Given the description of an element on the screen output the (x, y) to click on. 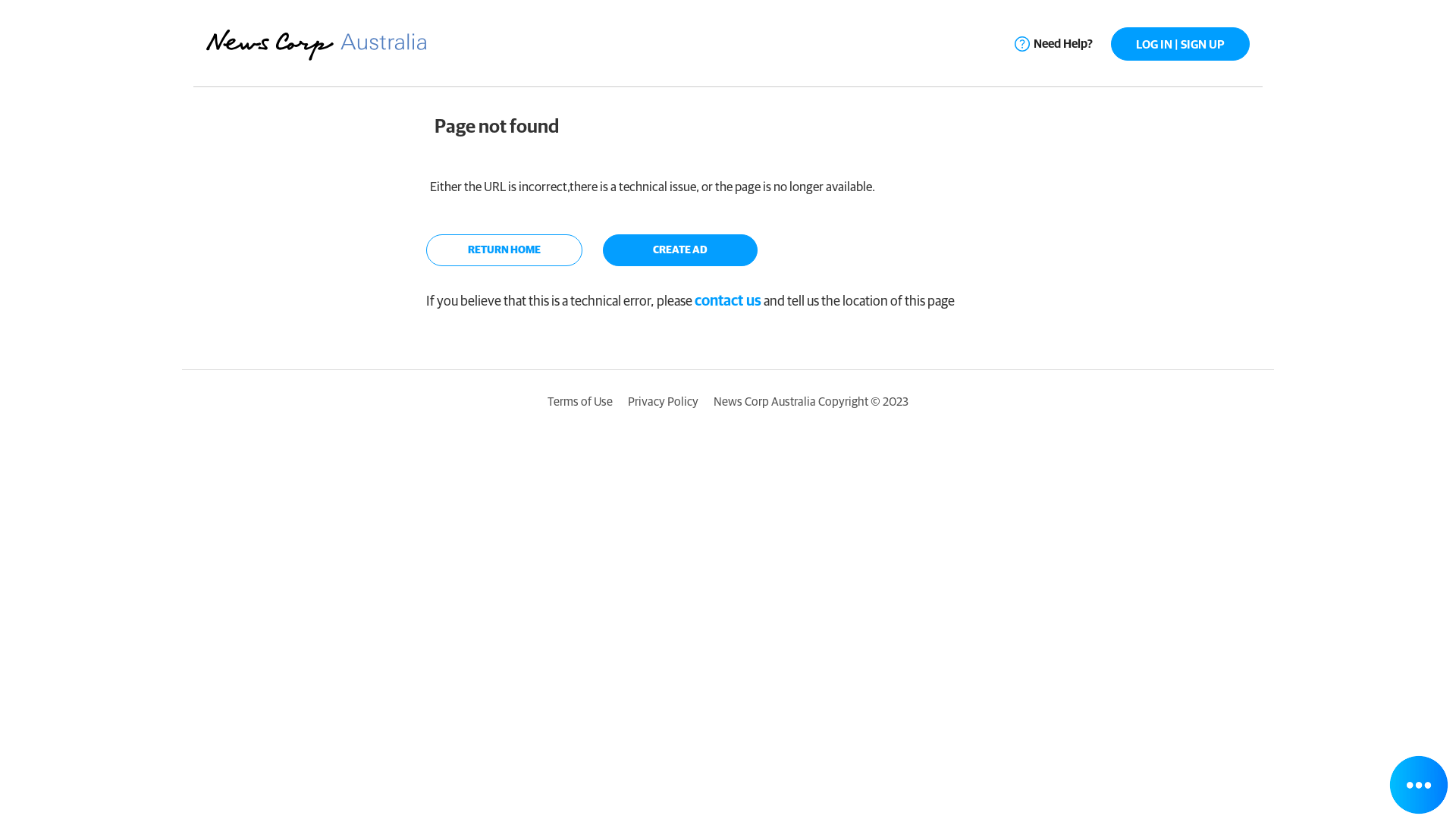
Privacy Policy Element type: text (662, 401)
CREATE AD Element type: text (679, 250)
Need Help? Element type: text (1053, 43)
RETURN HOME Element type: text (504, 250)
LOG IN | SIGN UP Element type: text (1179, 43)
Terms of Use Element type: text (579, 401)
contact us Element type: text (727, 301)
